Given the description of an element on the screen output the (x, y) to click on. 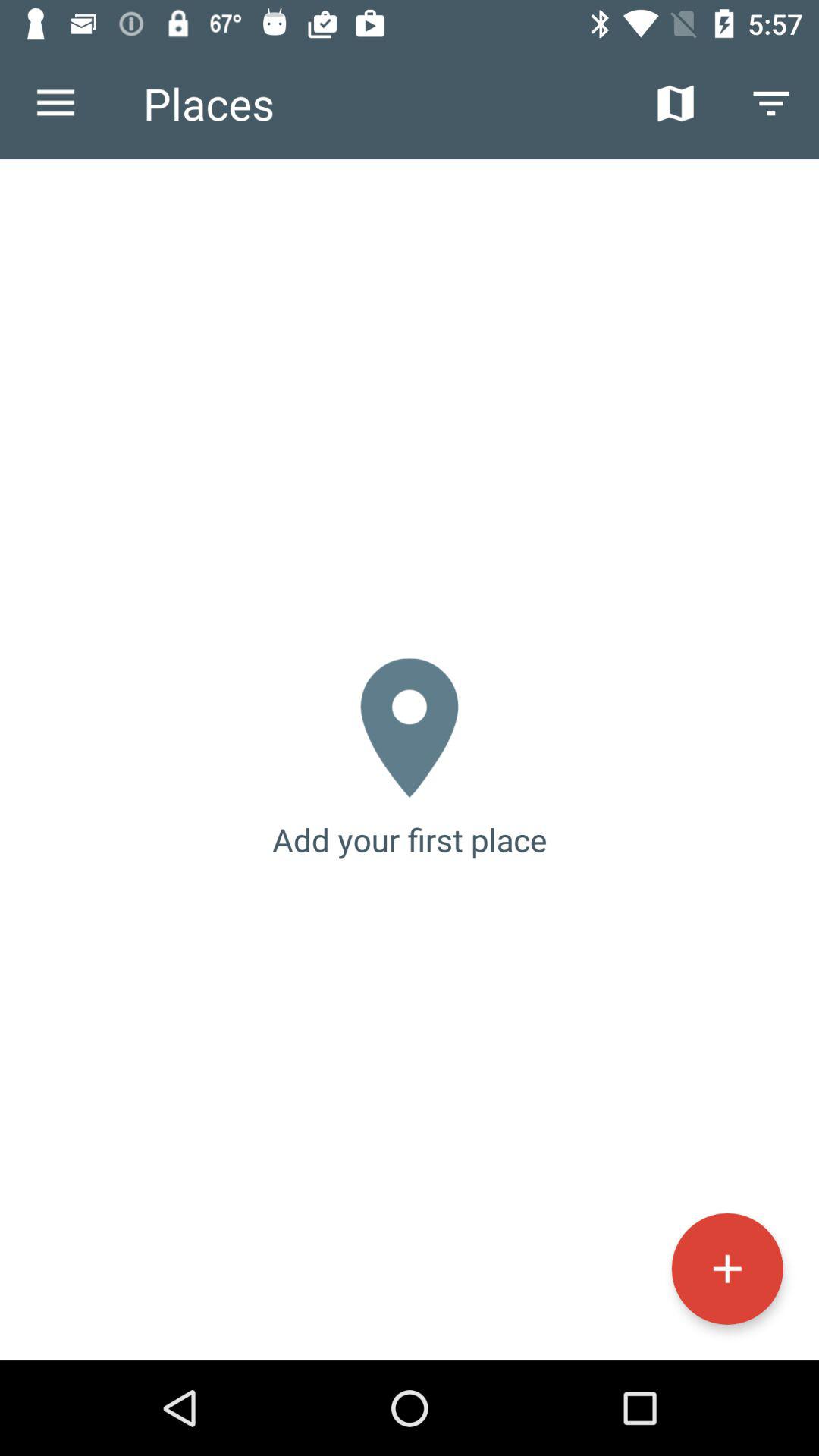
choose the item next to places icon (675, 103)
